Given the description of an element on the screen output the (x, y) to click on. 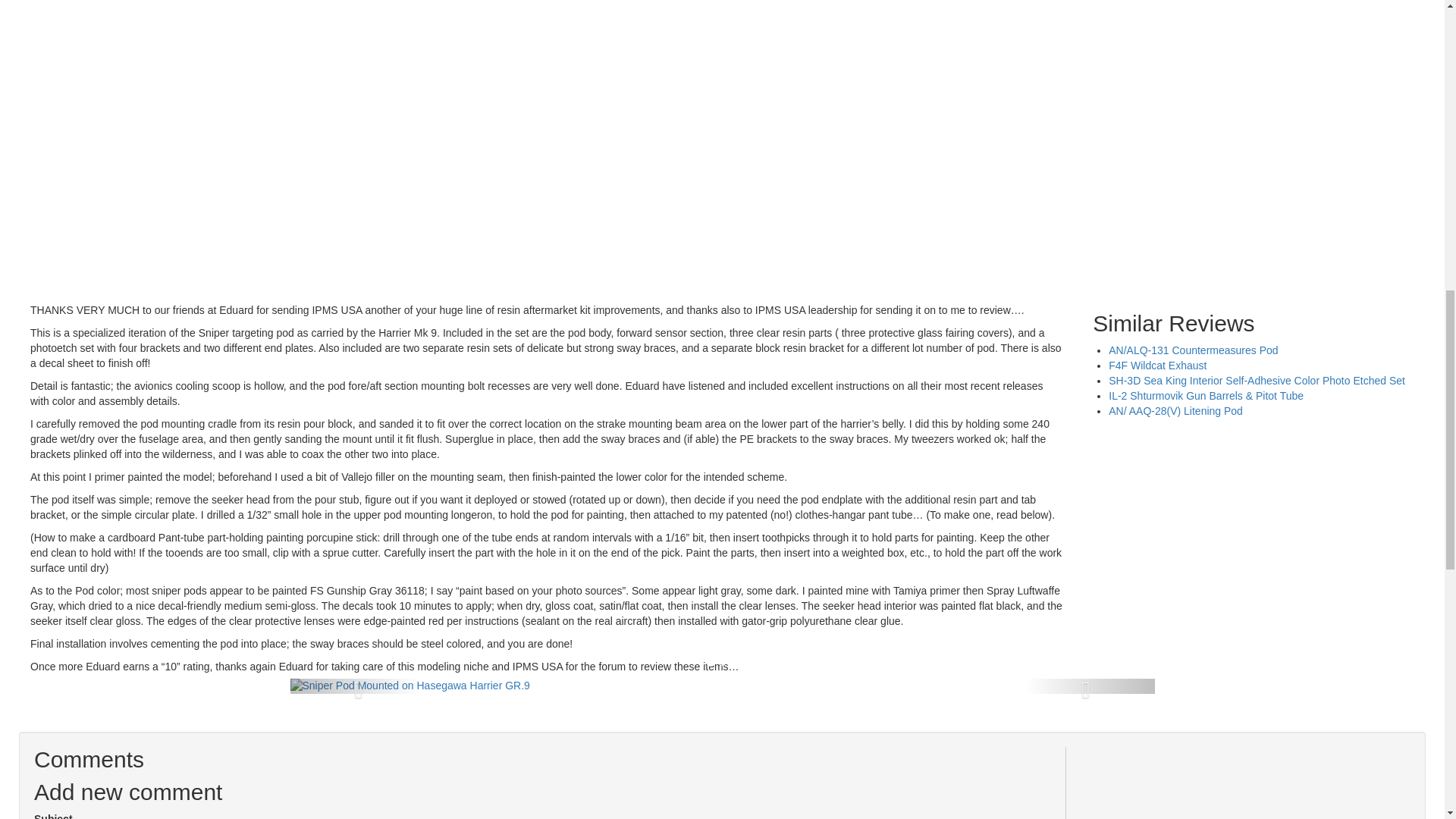
Sniper Pod Mounted on Hasegawa Harrier GR.9 (409, 685)
Sniper Pod Mounted on Hasegawa Harrier GR.9 (409, 685)
F4F Wildcat Exhaust (1157, 365)
SH-3D Sea King Interior Self-Adhesive Color Photo Etched Set (1256, 380)
